Given the description of an element on the screen output the (x, y) to click on. 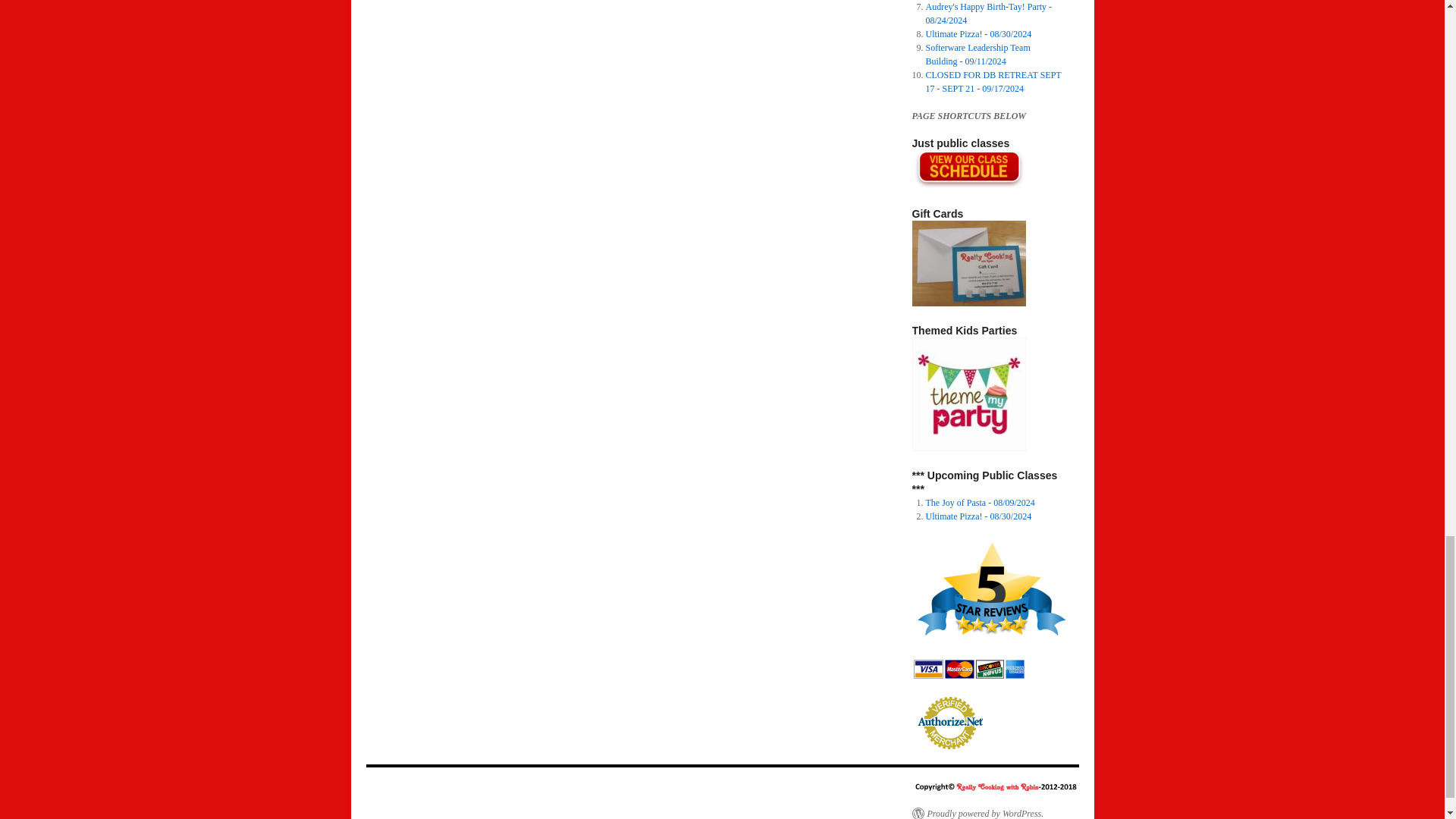
Themed Kids Parties (968, 394)
